Given the description of an element on the screen output the (x, y) to click on. 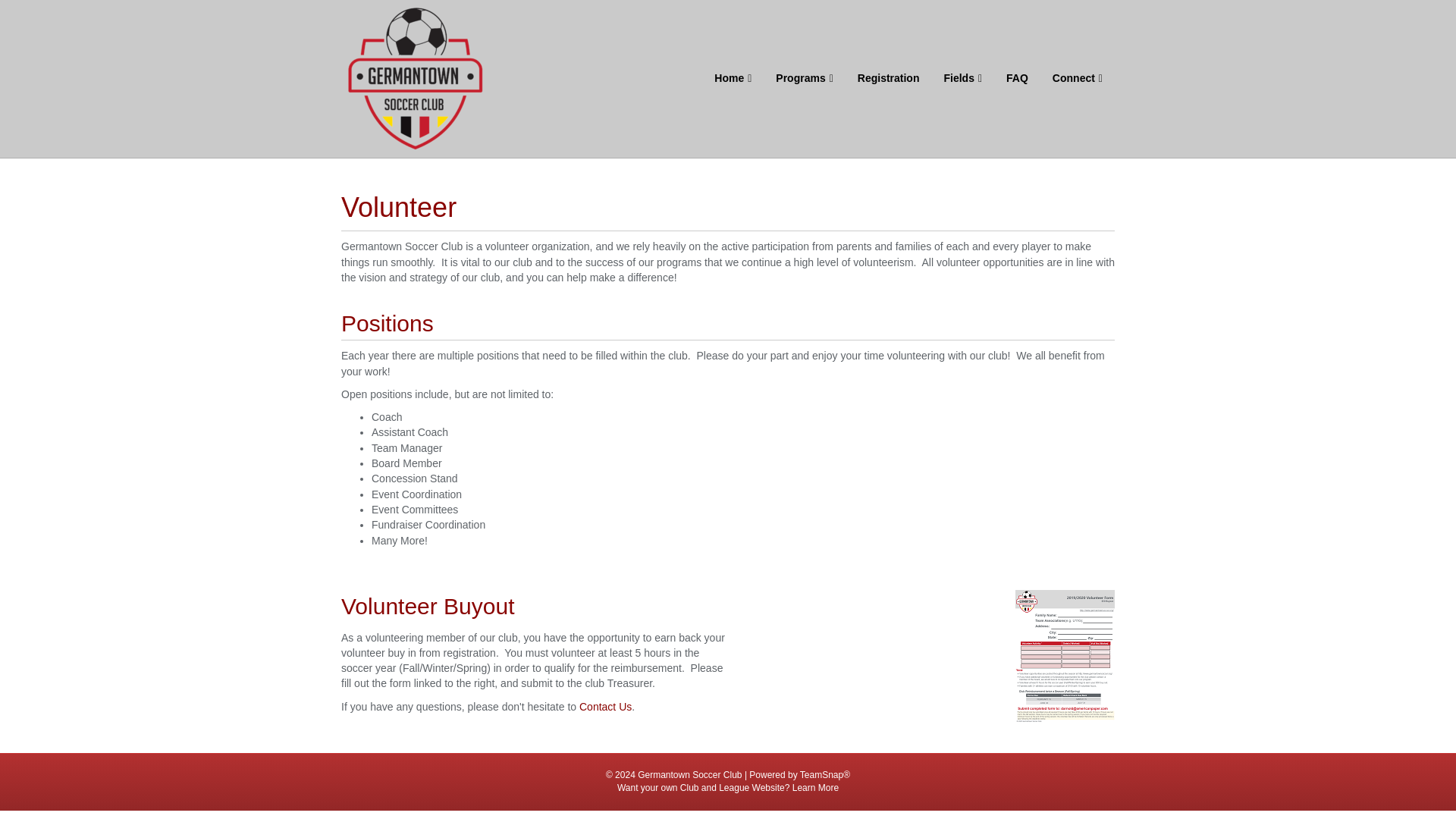
Powered by TeamSnap (824, 774)
Fields (962, 78)
FAQ (1017, 78)
Volunteer Buyout (427, 606)
Connect (1078, 78)
Programs (803, 78)
Home (731, 78)
Registration (888, 78)
Contact Us (605, 706)
Learn More (815, 787)
